Given the description of an element on the screen output the (x, y) to click on. 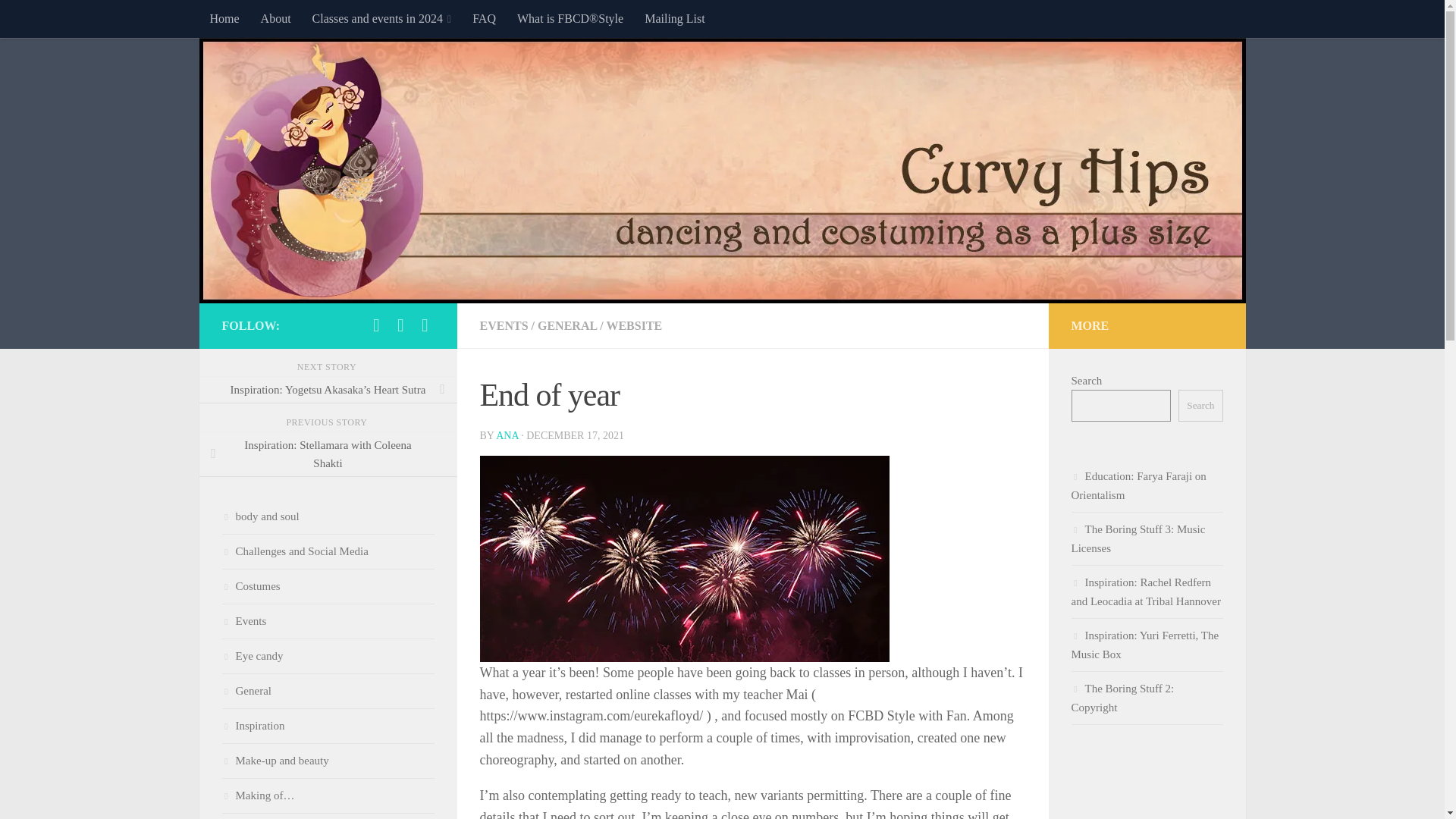
FAQ (483, 18)
Home (223, 18)
Posts by Ana (507, 435)
Classes and events in 2024 (382, 18)
About (275, 18)
Mailing List (674, 18)
EVENTS (503, 325)
ANA (507, 435)
Follow us on Instagram (400, 325)
Skip to content (59, 20)
Follow us on Youtube (423, 325)
GENERAL (566, 325)
WEBSITE (633, 325)
